Given the description of an element on the screen output the (x, y) to click on. 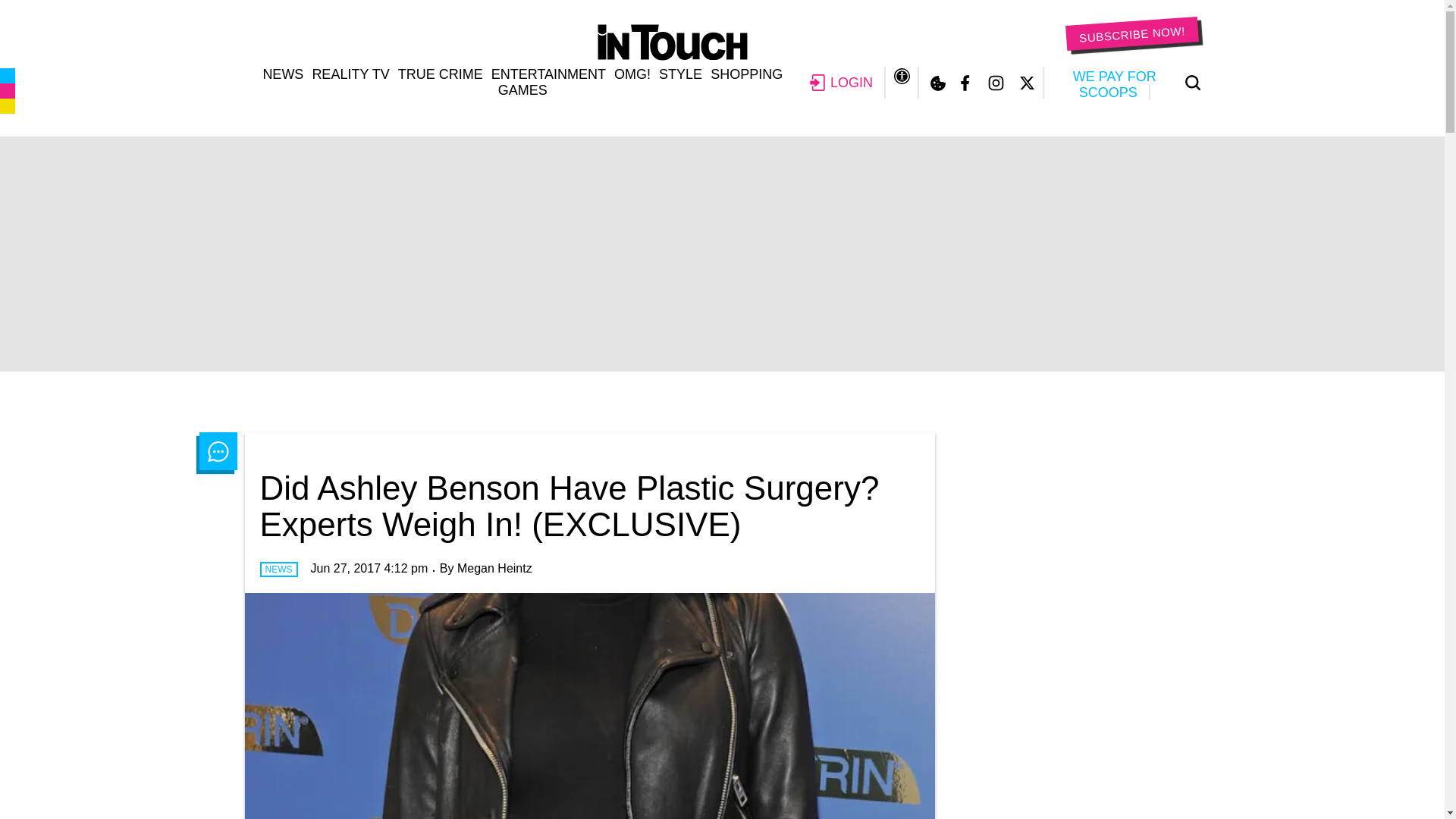
Posts by Megan Heintz (494, 567)
